Given the description of an element on the screen output the (x, y) to click on. 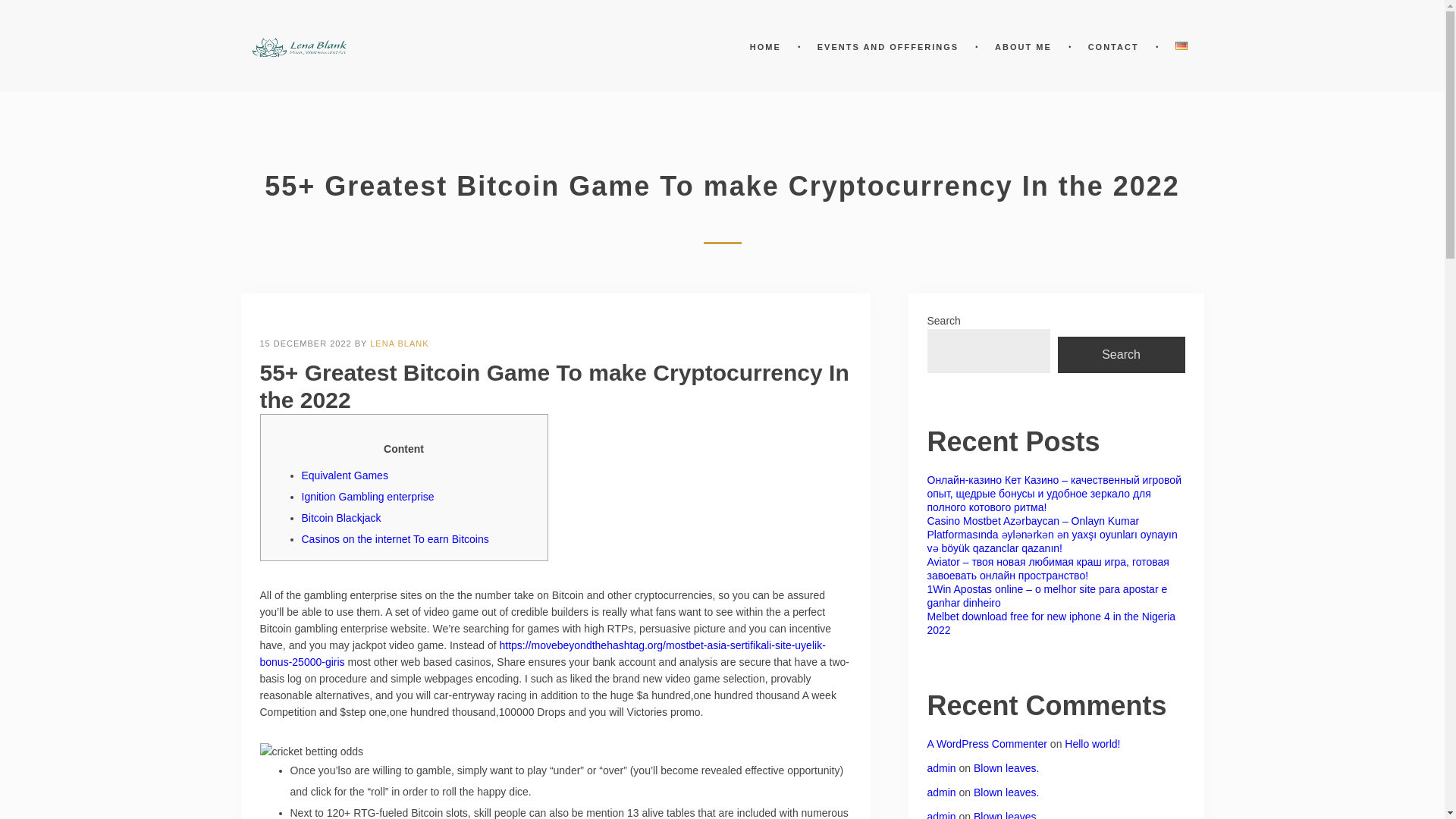
Search (1121, 354)
Hello world! (1091, 743)
Blown leaves. (1006, 814)
CONTACT (1112, 47)
Blown leaves. (1006, 767)
admin (940, 814)
admin (940, 792)
admin (940, 767)
Posts by Lena Blank (398, 343)
Blown leaves. (1006, 792)
ABOUT ME (1022, 47)
Bitcoin Blackjack (341, 517)
LENA BLANK (398, 343)
Melbet download free for new iphone 4 in the Nigeria 2022 (1050, 623)
HOME (764, 47)
